Given the description of an element on the screen output the (x, y) to click on. 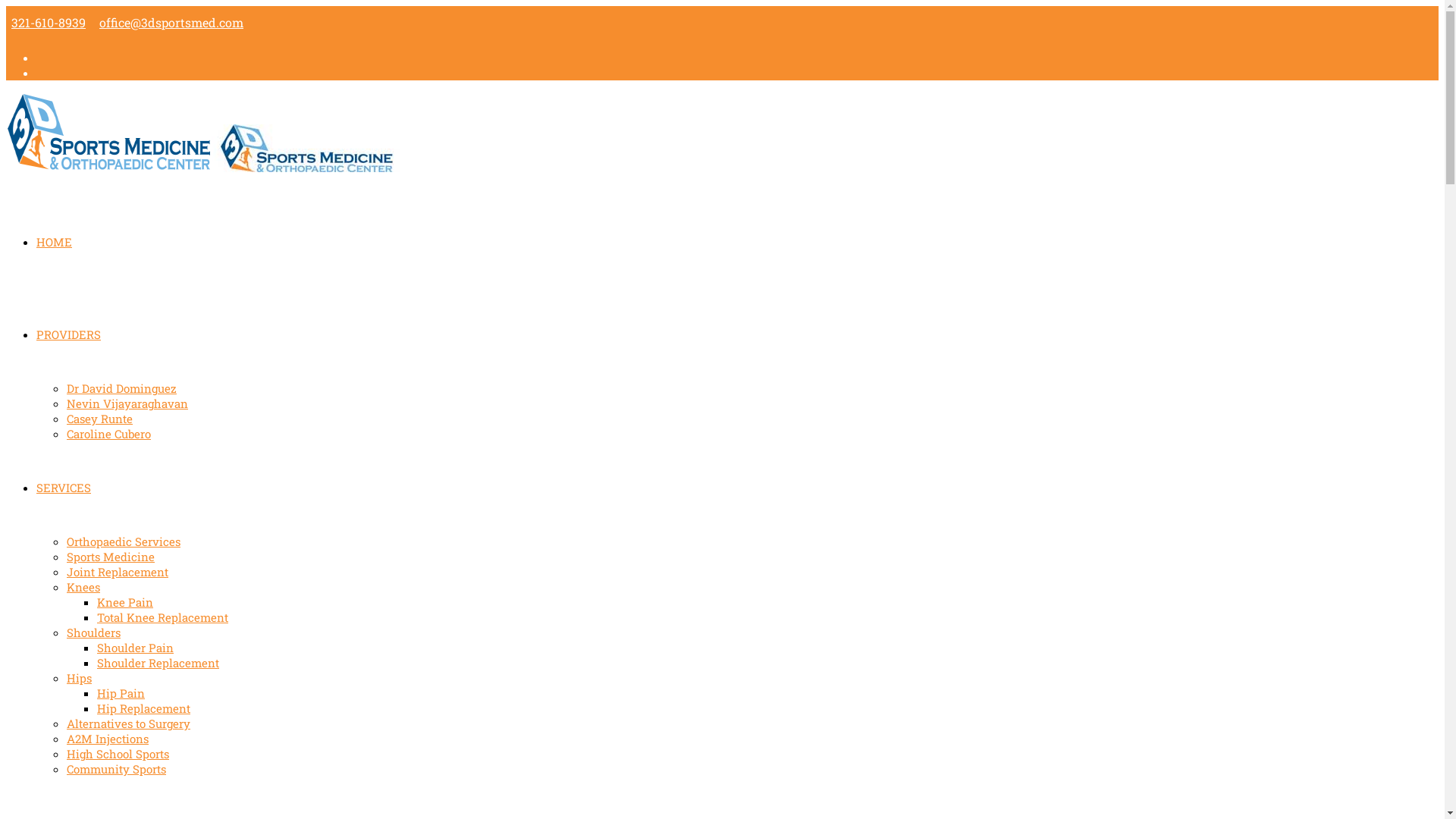
SERVICES Element type: text (63, 487)
Knee Pain Element type: text (125, 601)
PROVIDERS Element type: text (68, 334)
321-610-8939 Element type: text (48, 22)
Orthopaedic Services Element type: text (123, 541)
Community Sports Element type: text (116, 768)
Caroline Cubero Element type: text (108, 433)
Shoulders Element type: text (93, 632)
Shoulder Replacement Element type: text (158, 662)
Skip to content Element type: text (5, 5)
Dr David Dominguez Element type: text (121, 387)
Sports Medicine Element type: text (110, 556)
HOME Element type: text (54, 241)
Hip Pain Element type: text (120, 692)
Shoulder Pain Element type: text (135, 647)
Hip Replacement Element type: text (143, 707)
office@3dsportsmed.com Element type: text (171, 22)
Casey Runte Element type: text (99, 418)
Hips Element type: text (78, 677)
High School Sports Element type: text (117, 753)
Joint Replacement Element type: text (117, 571)
Total Knee Replacement Element type: text (162, 616)
A2M Injections Element type: text (107, 738)
Alternatives to Surgery Element type: text (128, 723)
Knees Element type: text (83, 586)
Nevin Vijayaraghavan Element type: text (127, 403)
